Given the description of an element on the screen output the (x, y) to click on. 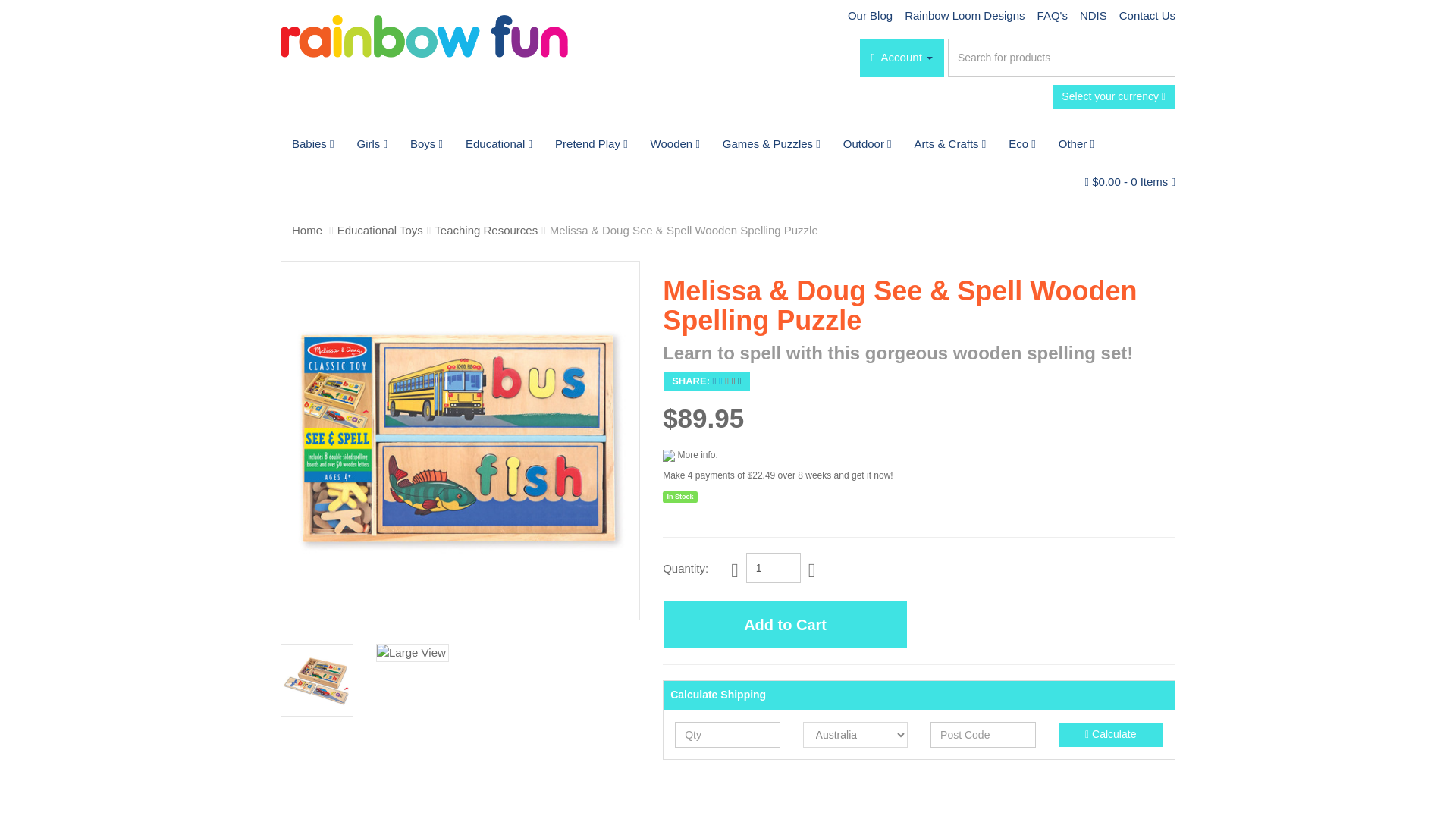
Calculate (1110, 734)
1 (772, 567)
Babies (313, 143)
Contact Us (1143, 15)
 Account (901, 57)
FAQ's (1052, 15)
Large View (411, 651)
Rainbow Loom Designs (964, 15)
Large View (317, 679)
Our Blog (869, 15)
